Given the description of an element on the screen output the (x, y) to click on. 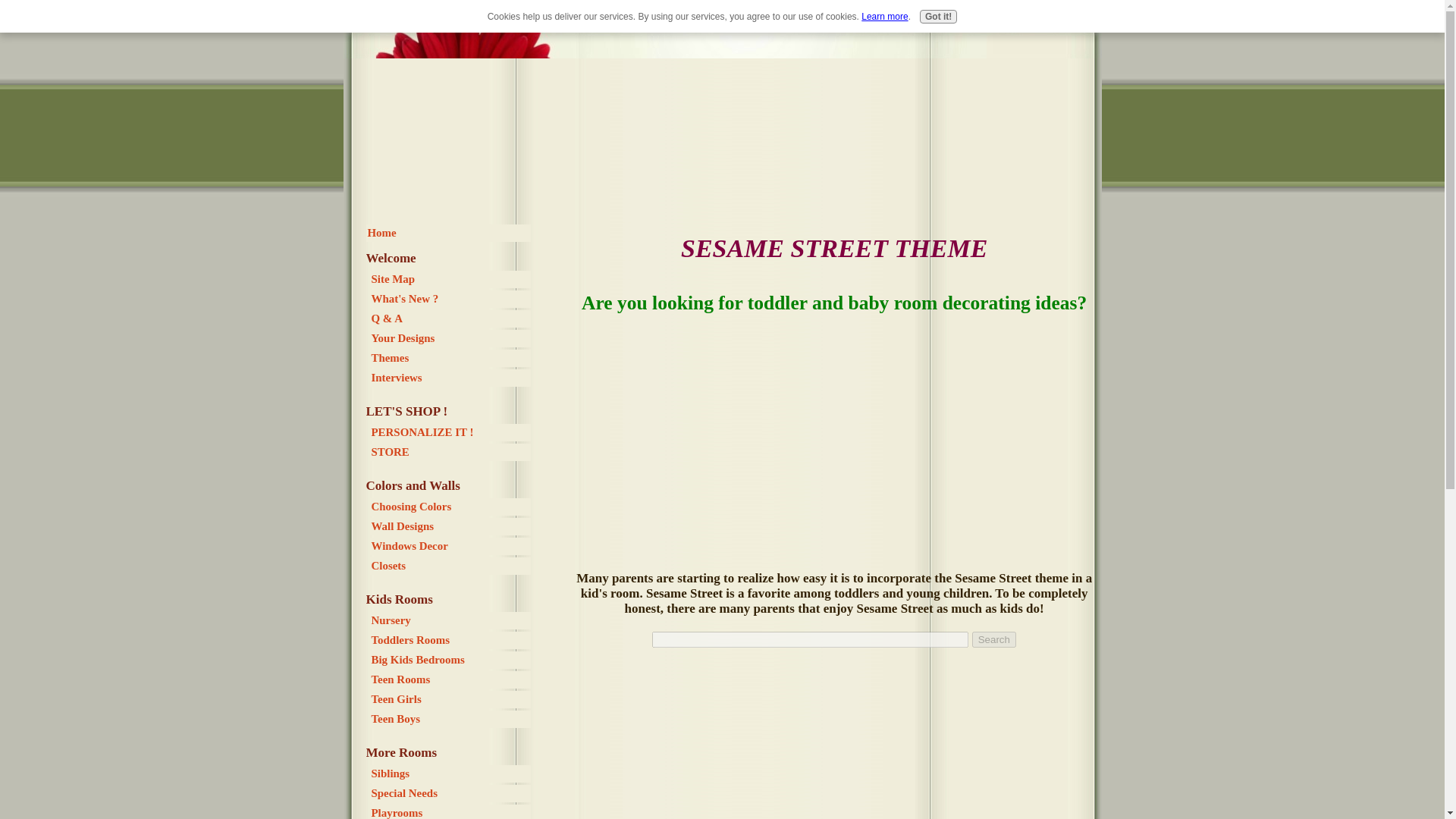
Teen Rooms (450, 679)
Special Needs (450, 793)
Interviews (450, 377)
Choosing Colors (450, 506)
Teen Girls (450, 699)
Teen Boys (450, 719)
Playrooms (450, 811)
Closets (450, 565)
Themes (450, 357)
Big Kids Bedrooms (450, 660)
Site Map (450, 279)
Your Designs (450, 338)
Siblings (450, 773)
Home (448, 232)
PERSONALIZE IT ! (450, 432)
